Given the description of an element on the screen output the (x, y) to click on. 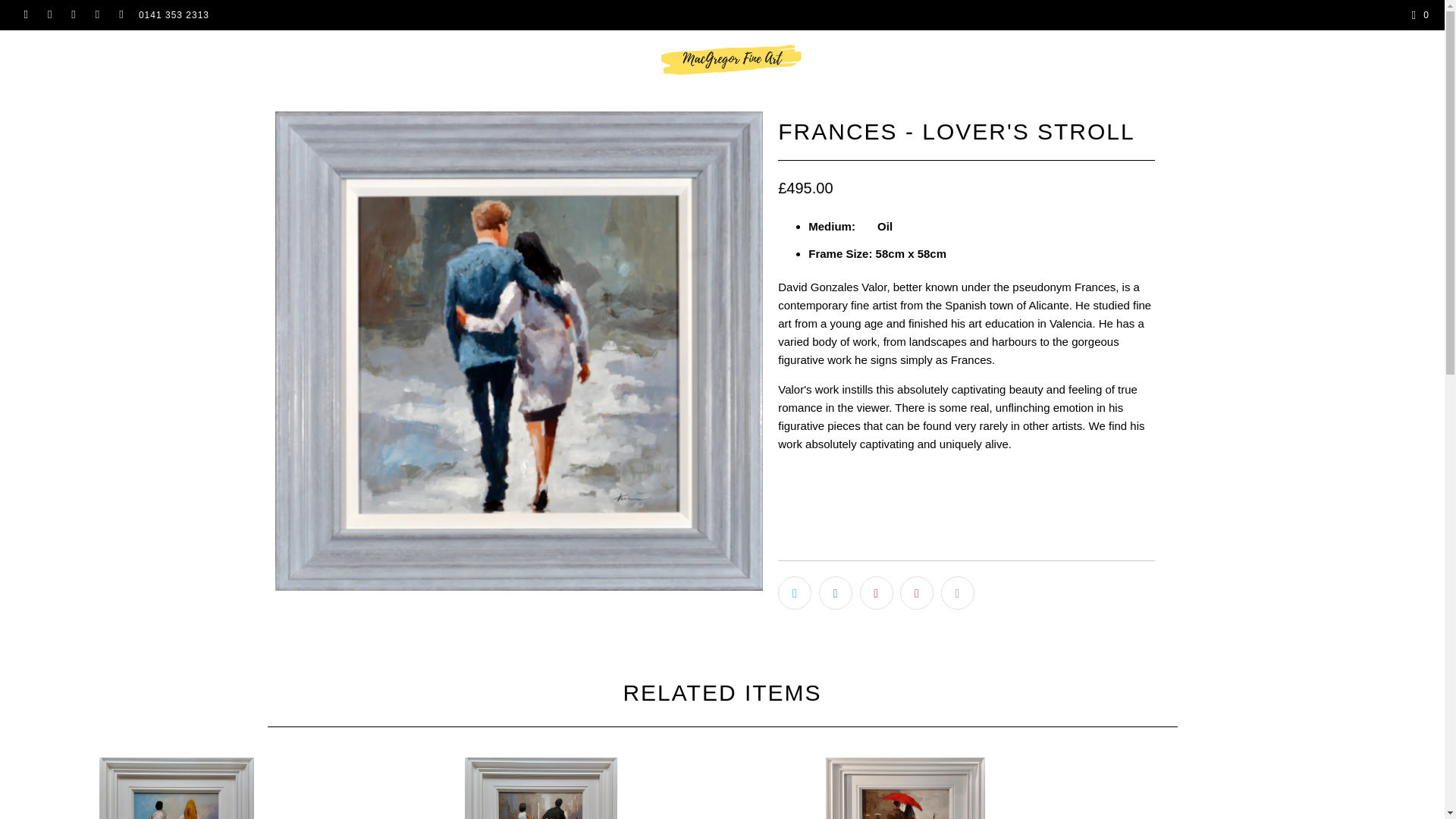
Share this on Facebook (834, 592)
SEARCH (1216, 56)
MacGregor Fine Art (729, 59)
HOME (35, 56)
Share this on Twitter (793, 592)
ARTISTS AT A GLANCE (297, 56)
SHOP (140, 56)
MacGregor Fine Art on Instagram (96, 14)
MacGregor Fine Art on Facebook (48, 14)
Share this on Pinterest (876, 592)
Email this to a friend (957, 592)
0141 353 2313 (173, 15)
MacGregor Fine Art on Twitter (25, 14)
EVENTS (198, 56)
Email MacGregor Fine Art (121, 14)
